Given the description of an element on the screen output the (x, y) to click on. 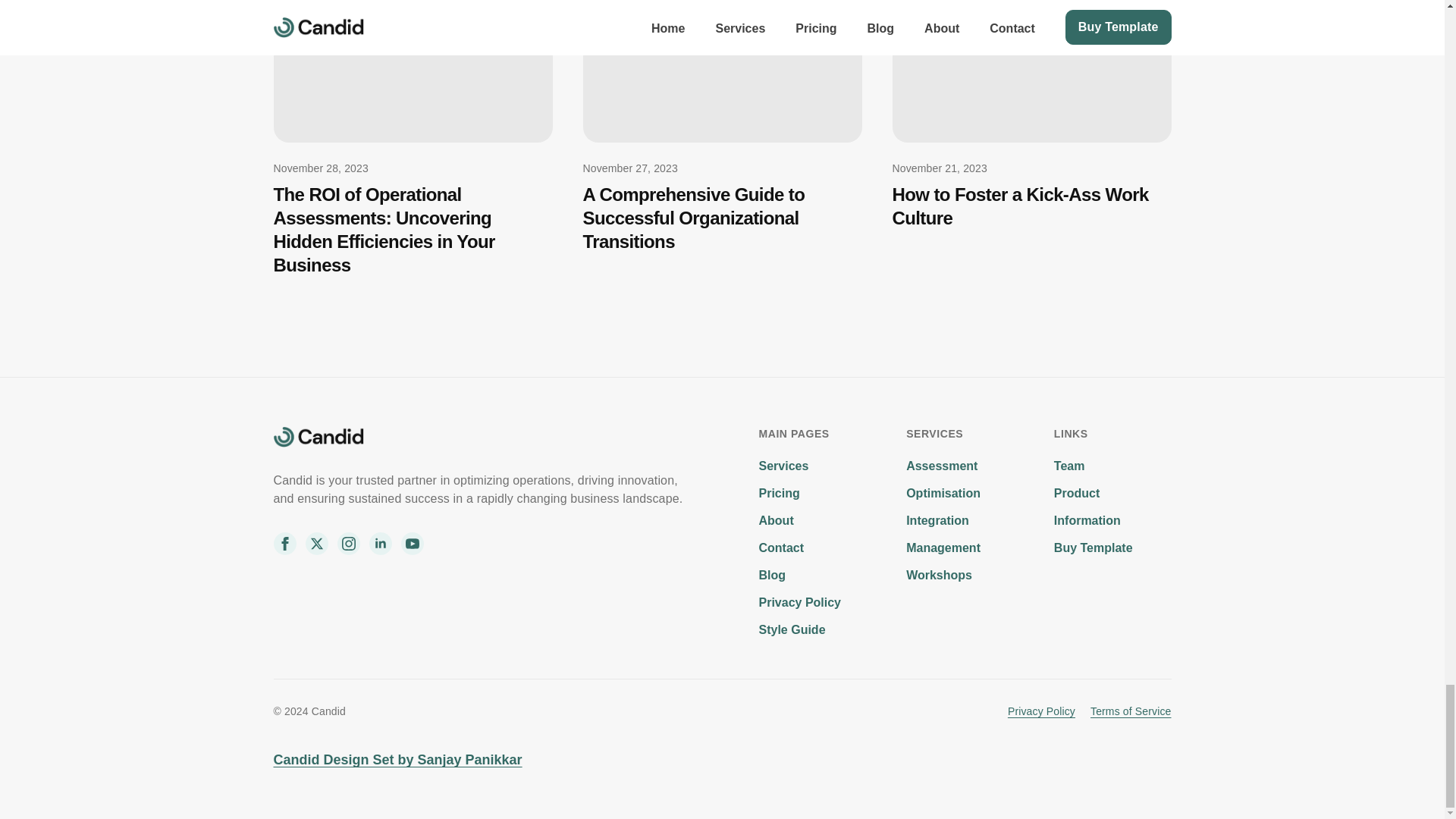
Services (783, 465)
Pricing (778, 492)
How to Foster a Kick-Ass Work Culture (1030, 206)
About (775, 520)
